Given the description of an element on the screen output the (x, y) to click on. 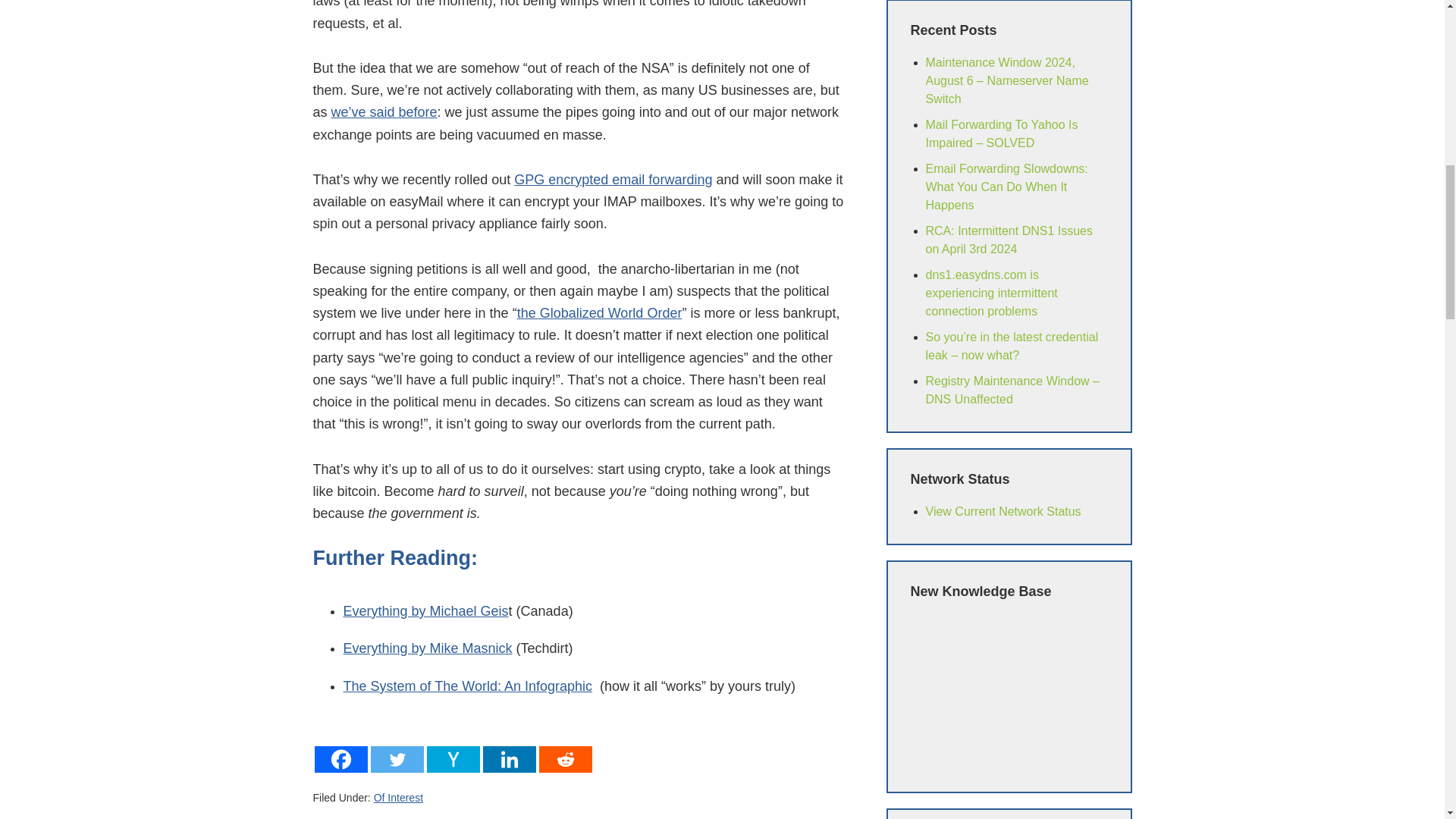
Twitter (396, 747)
Reddit (564, 747)
Linkedin (508, 747)
Facebook (340, 747)
